Given the description of an element on the screen output the (x, y) to click on. 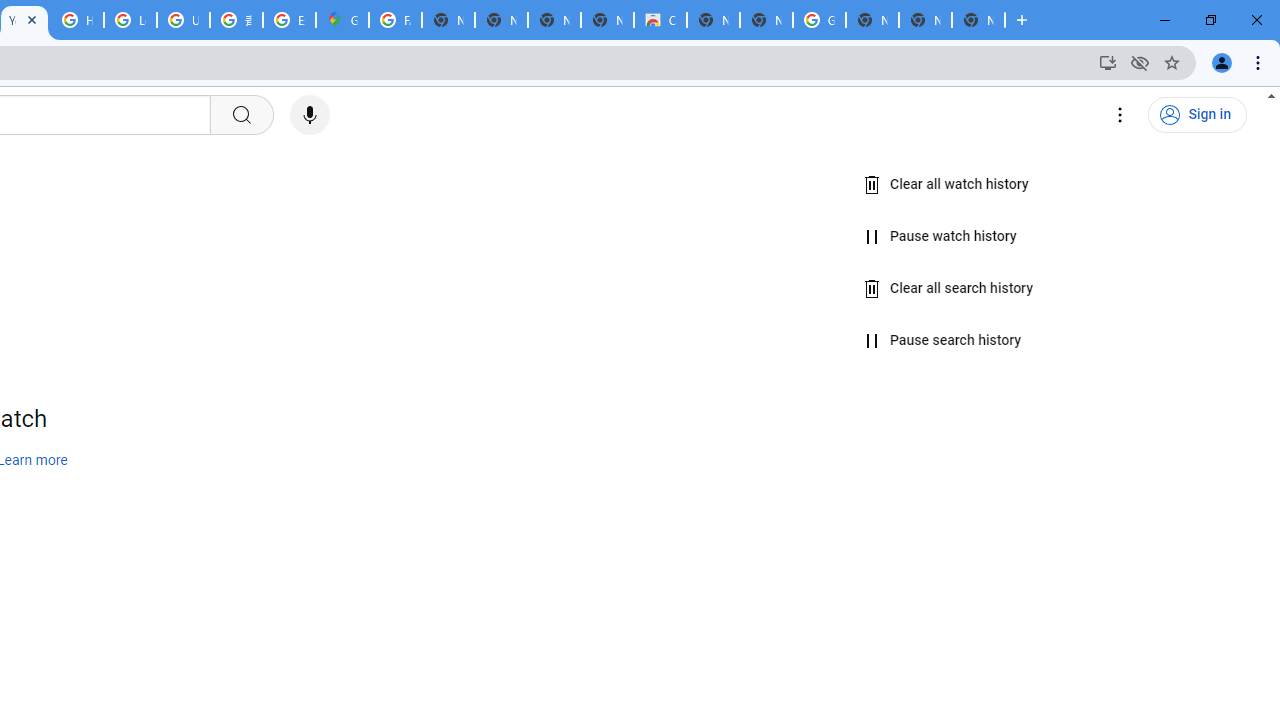
New Tab (766, 20)
Explore new street-level details - Google Maps Help (289, 20)
Google Maps (342, 20)
Clear all search history (949, 288)
Google Images (819, 20)
Install YouTube (1107, 62)
